Given the description of an element on the screen output the (x, y) to click on. 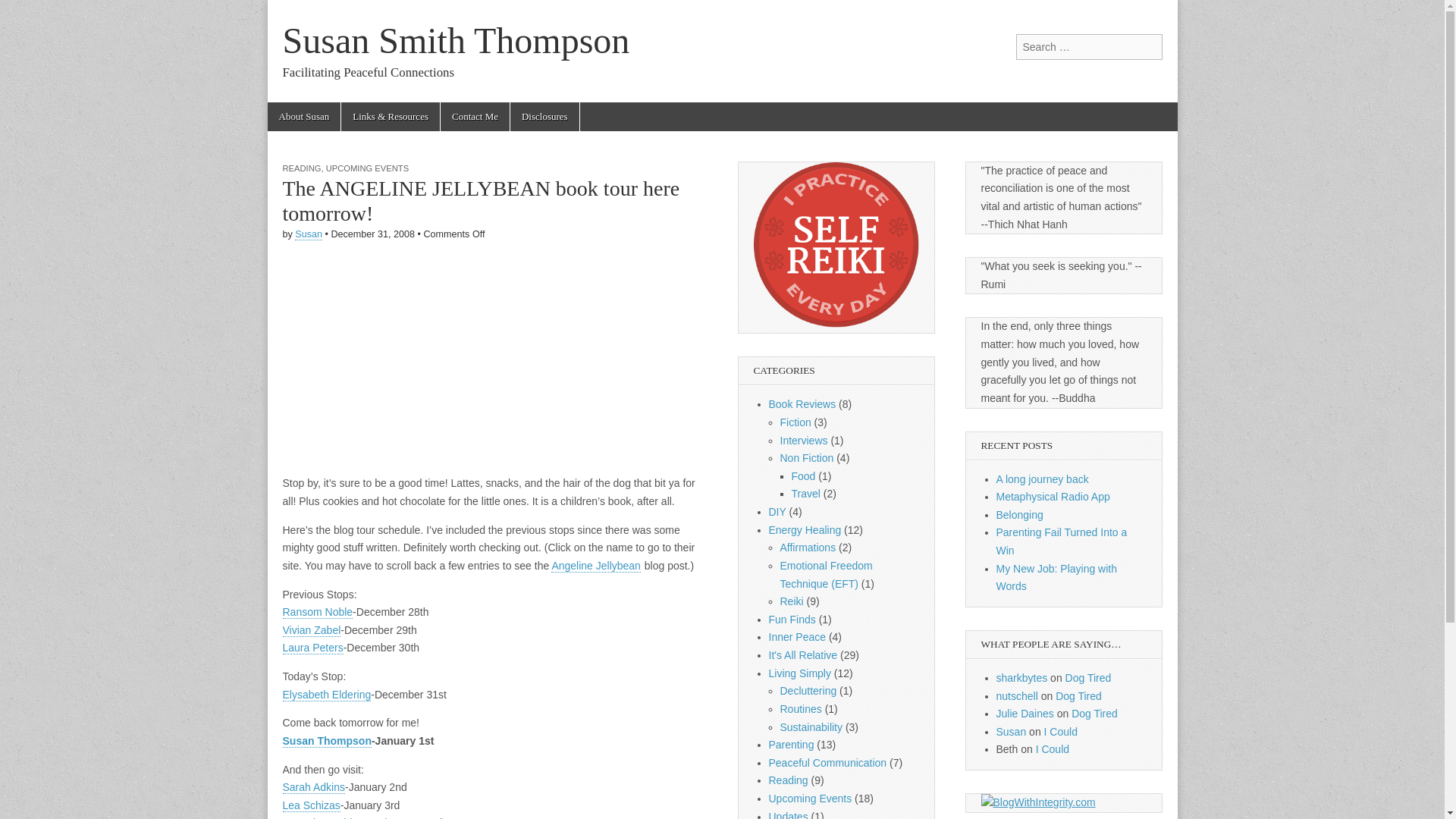
Fiction (794, 422)
Susan Smith Thompson (455, 40)
DIY (777, 511)
Search (23, 12)
About Susan (303, 116)
Susan Smith Thompson (455, 40)
Interviews (802, 440)
Ransom Noble (317, 612)
Vivian Zabel (311, 630)
Posts by Susan (308, 234)
